Given the description of an element on the screen output the (x, y) to click on. 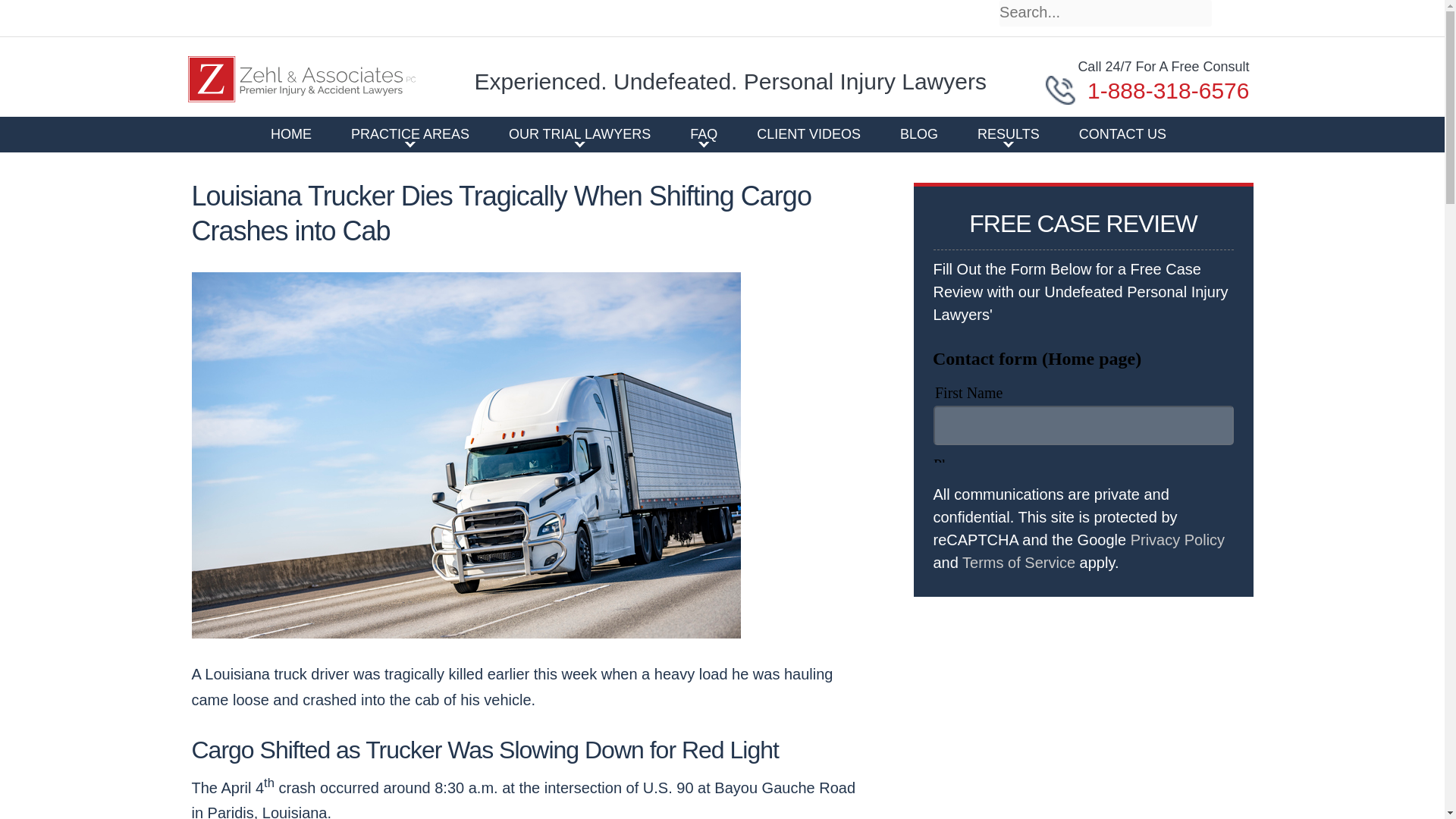
PRACTICE AREAS (409, 133)
OUR TRIAL LAWYERS (579, 133)
1-888-318-6576 (1147, 91)
HOME (290, 133)
